Given the description of an element on the screen output the (x, y) to click on. 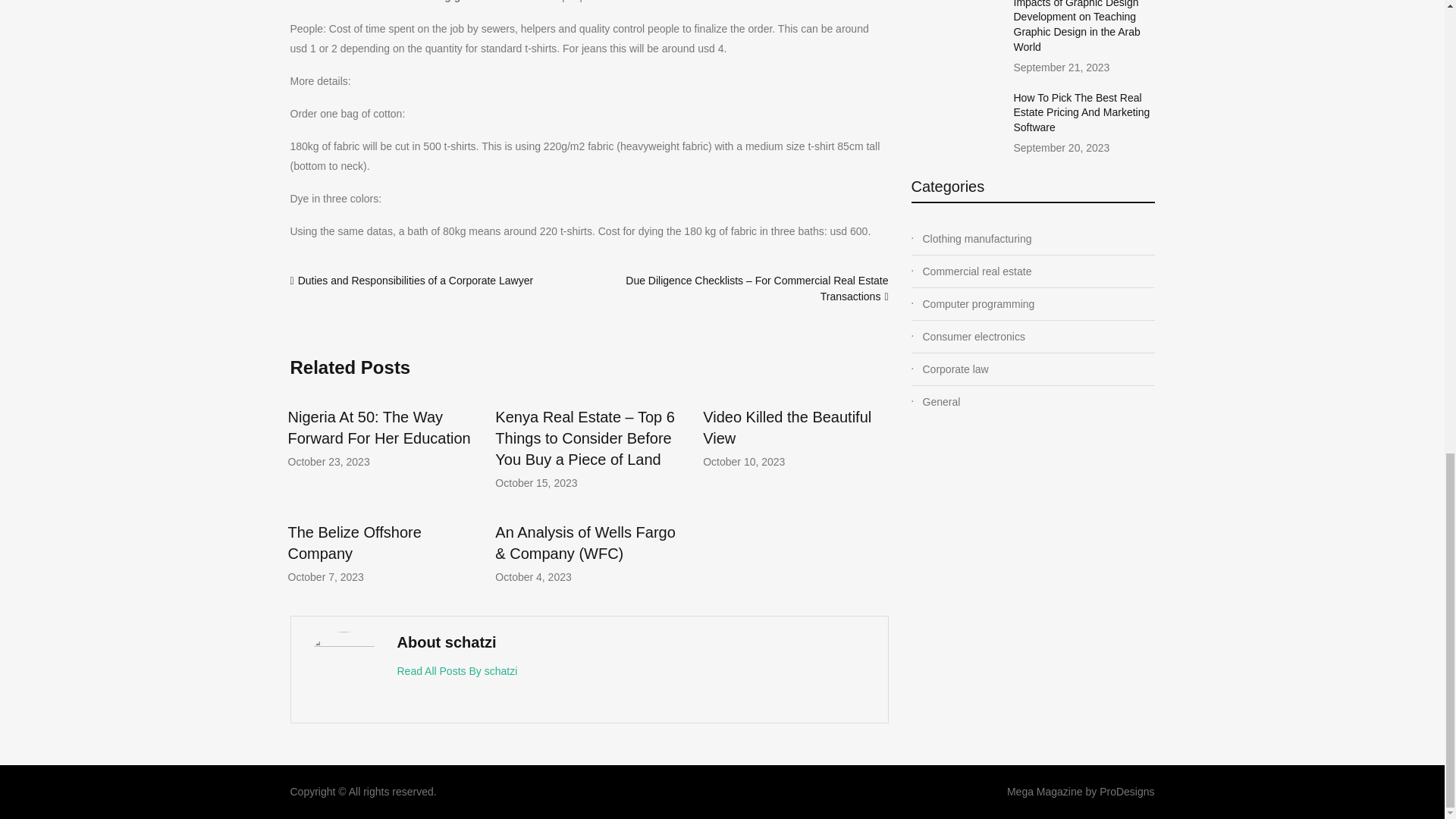
Read All Posts By schatzi (457, 671)
The Belize Offshore Company (355, 542)
Video Killed the Beautiful View (786, 427)
Nigeria At 50: The Way Forward For Her Education (379, 427)
Duties and Responsibilities of a Corporate Lawyer (416, 280)
